Given the description of an element on the screen output the (x, y) to click on. 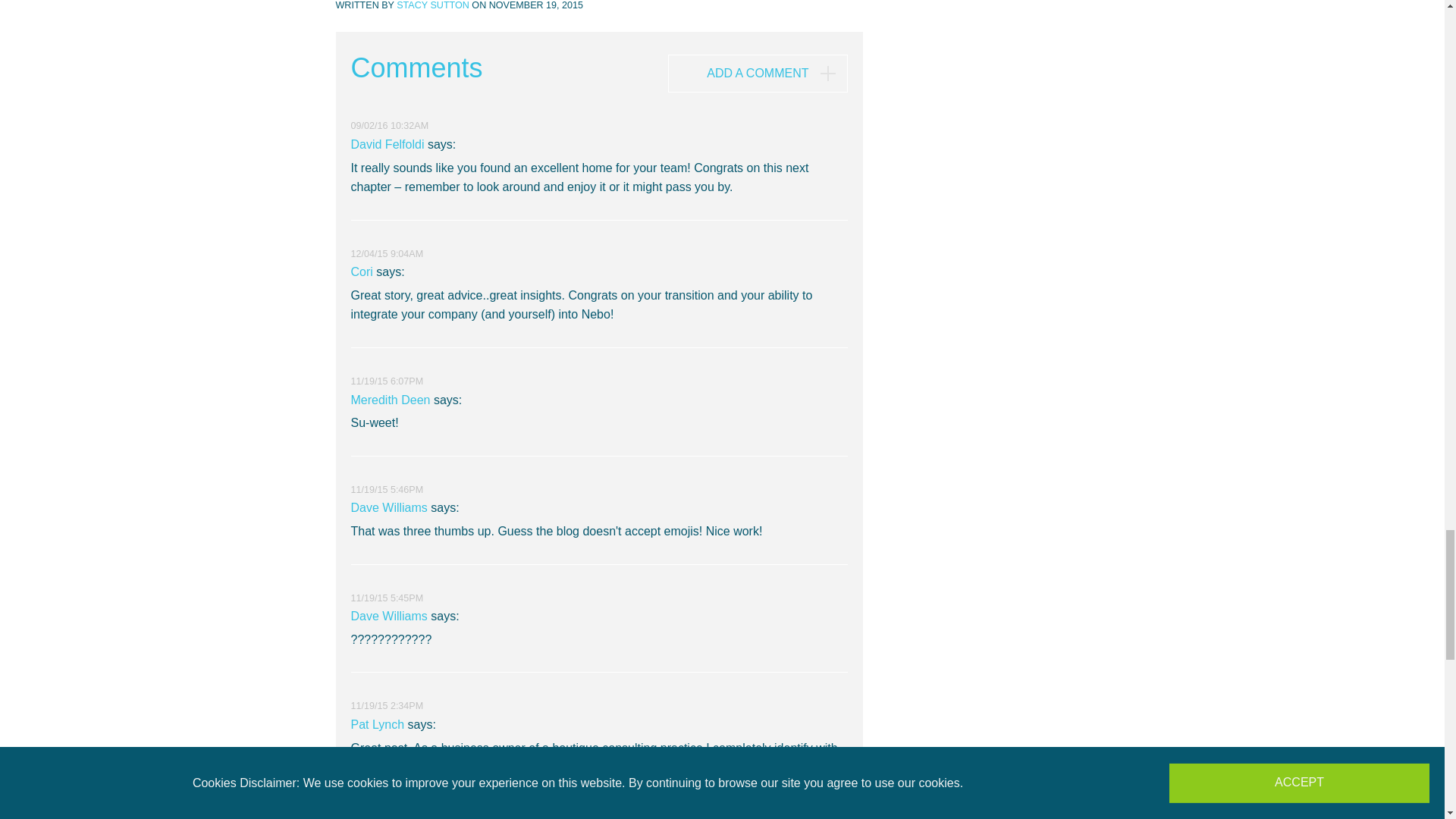
ADD A COMMENT (757, 73)
Pat Lynch (377, 724)
STACY SUTTON (432, 5)
Cori (361, 271)
David Felfoldi (386, 144)
